Given the description of an element on the screen output the (x, y) to click on. 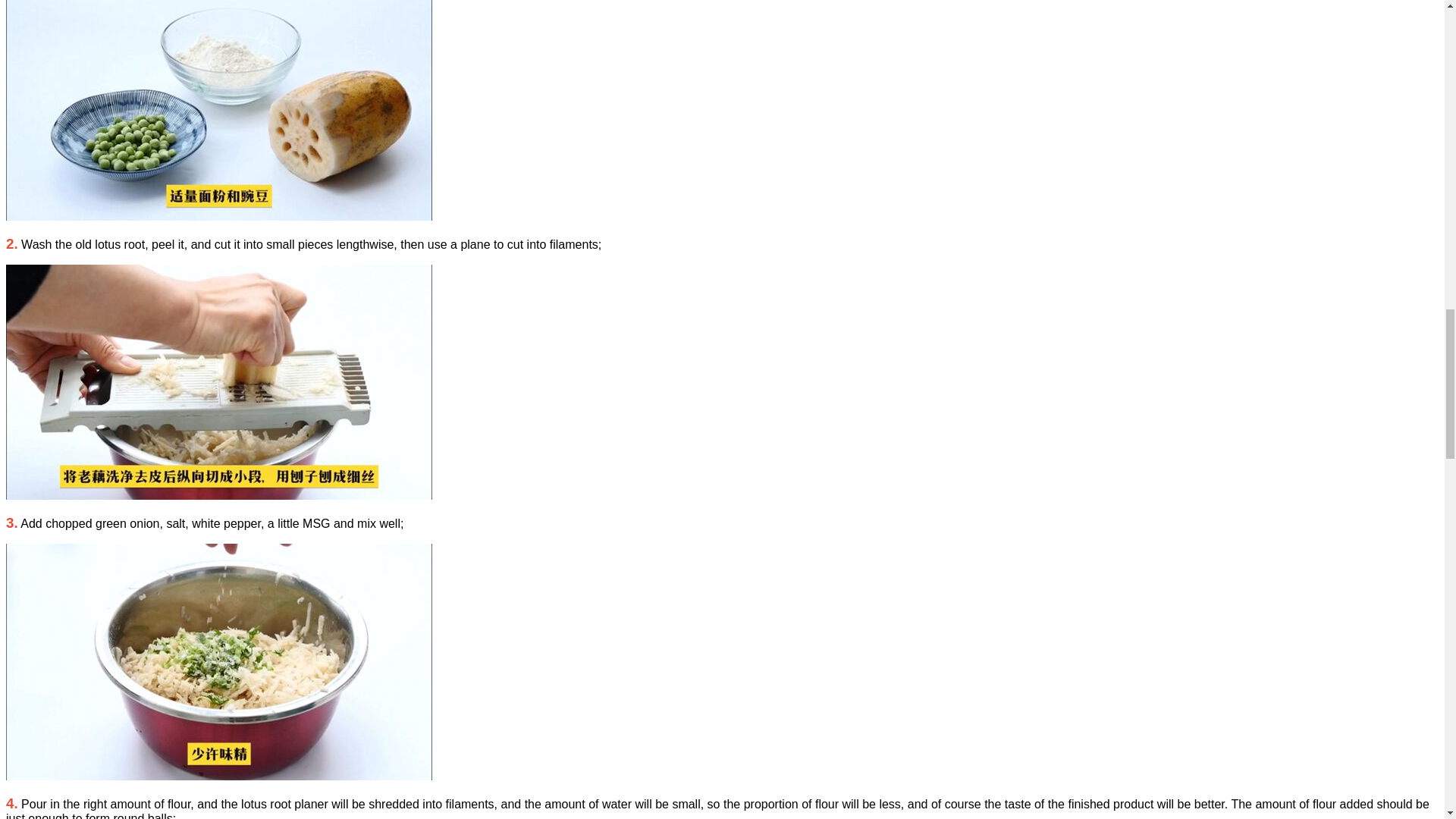
Braised Lotus Root recipe (218, 661)
Braised Lotus Root recipe (218, 381)
Braised Lotus Root recipe (218, 110)
